Given the description of an element on the screen output the (x, y) to click on. 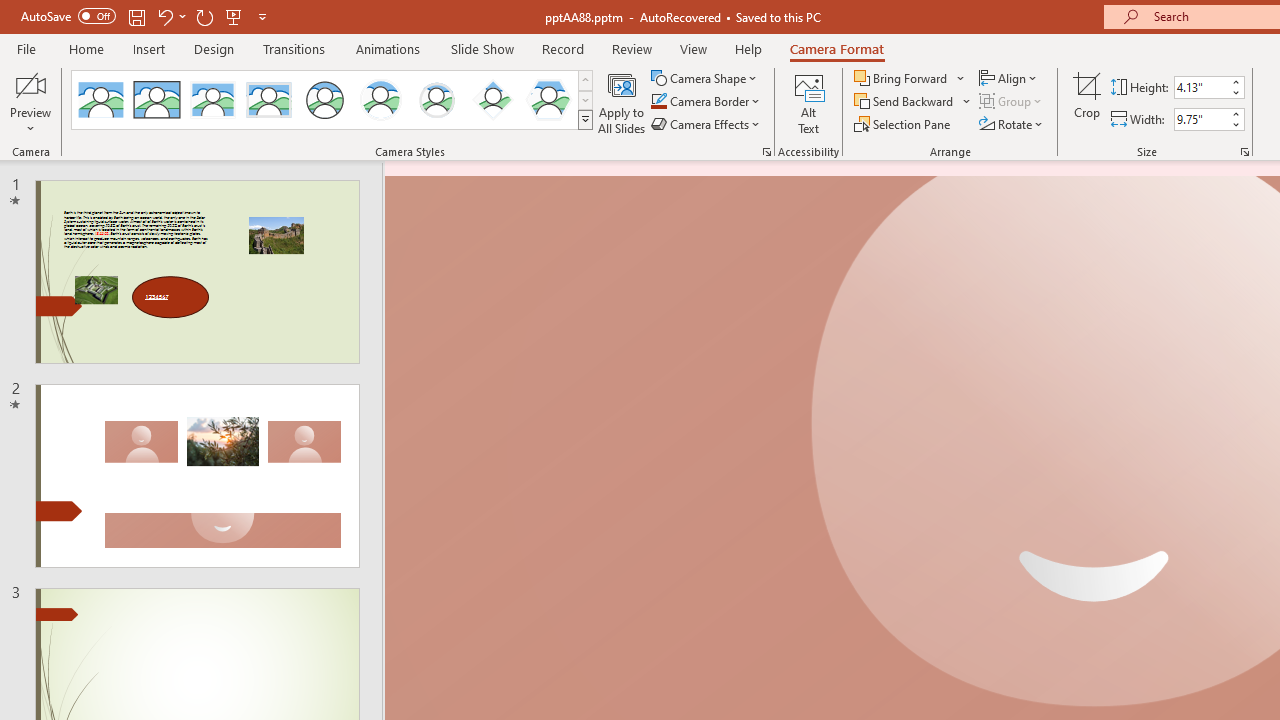
Bring Forward (910, 78)
Rotate (1012, 124)
Group (1012, 101)
Camera Format (836, 48)
Center Shadow Rectangle (212, 100)
AutomationID: CameoStylesGallery (333, 99)
